Given the description of an element on the screen output the (x, y) to click on. 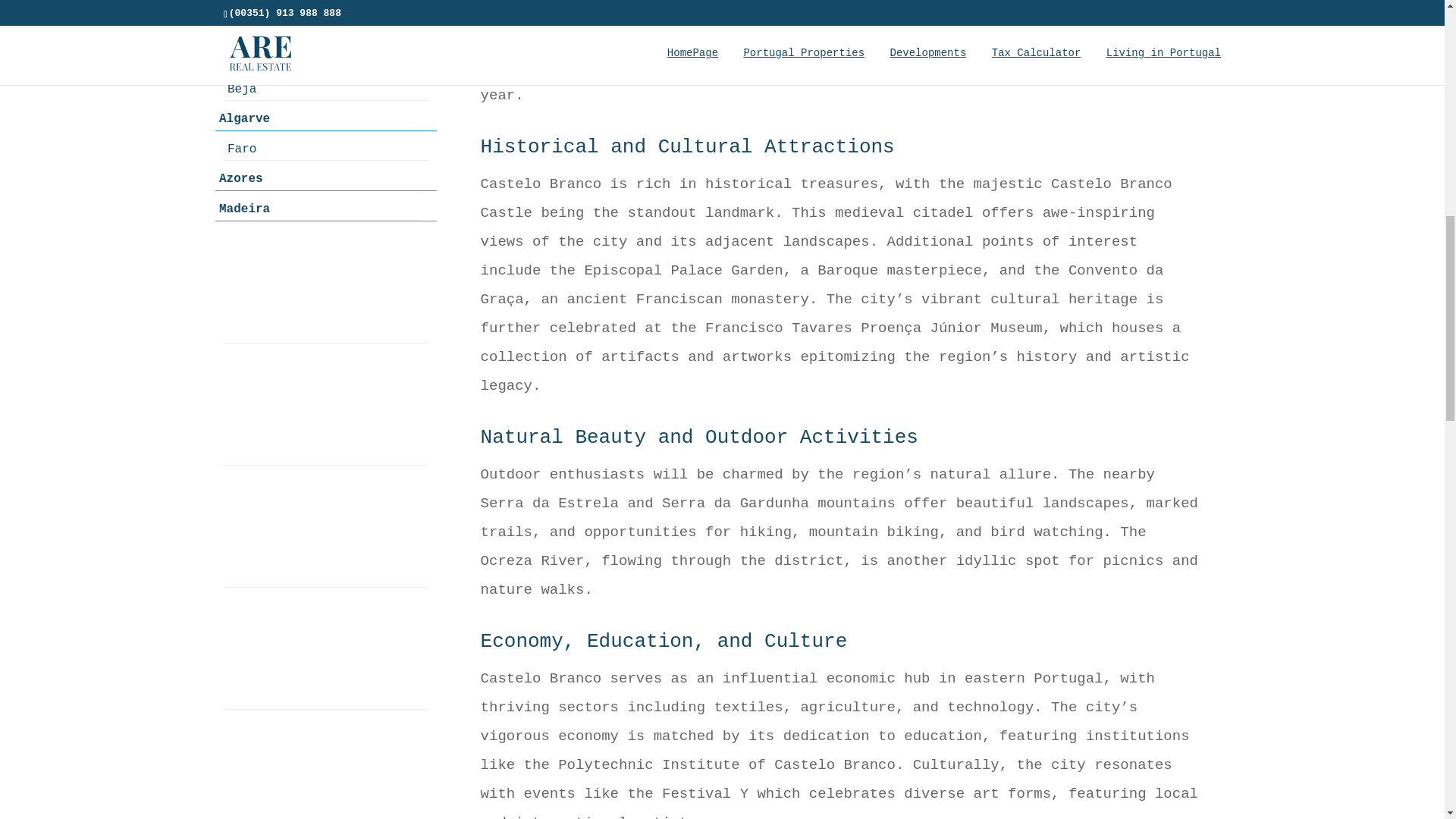
Portalegre (326, 59)
Madeira (317, 208)
Faro (326, 148)
Alentejo (317, 5)
Beja (326, 88)
Azores (317, 178)
Algarve (317, 118)
